Given the description of an element on the screen output the (x, y) to click on. 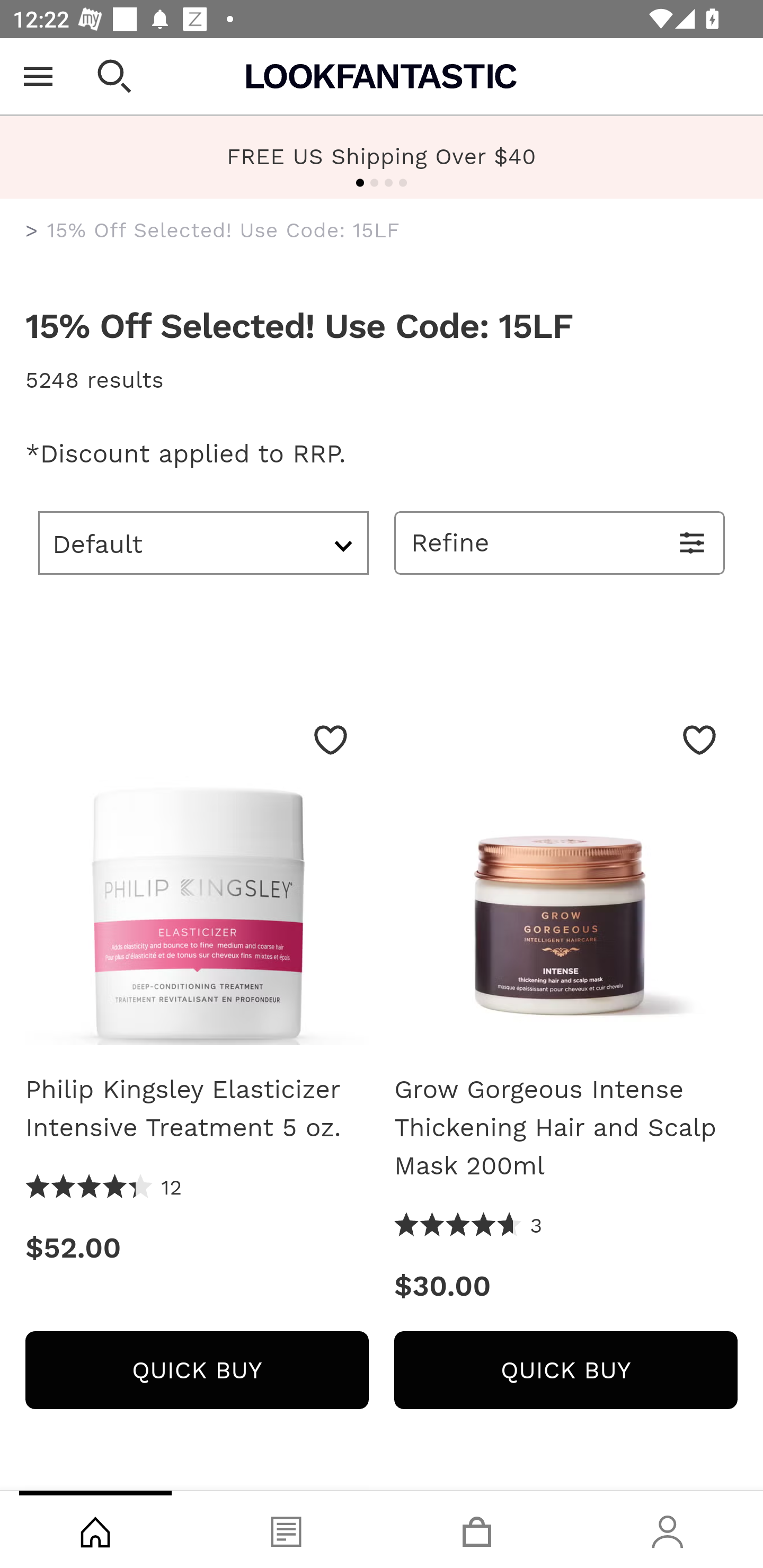
Open Menu (38, 75)
Open search (114, 75)
Lookfantastic USA (381, 75)
FREE US Shipping Over $40 (381, 157)
FREE US Shipping Over $40 (381, 155)
us.lookfantastic (32, 230)
Default (203, 542)
Refine (559, 542)
Save to Wishlist (330, 740)
Save to Wishlist (698, 740)
4.33 Stars 12 Reviews (104, 1187)
4.67 Stars 3 Reviews (468, 1225)
Price: $52.00 (196, 1247)
Price: $30.00 (565, 1286)
Shop, tab, 1 of 4 (95, 1529)
Blog, tab, 2 of 4 (285, 1529)
Basket, tab, 3 of 4 (476, 1529)
Account, tab, 4 of 4 (667, 1529)
